Given the description of an element on the screen output the (x, y) to click on. 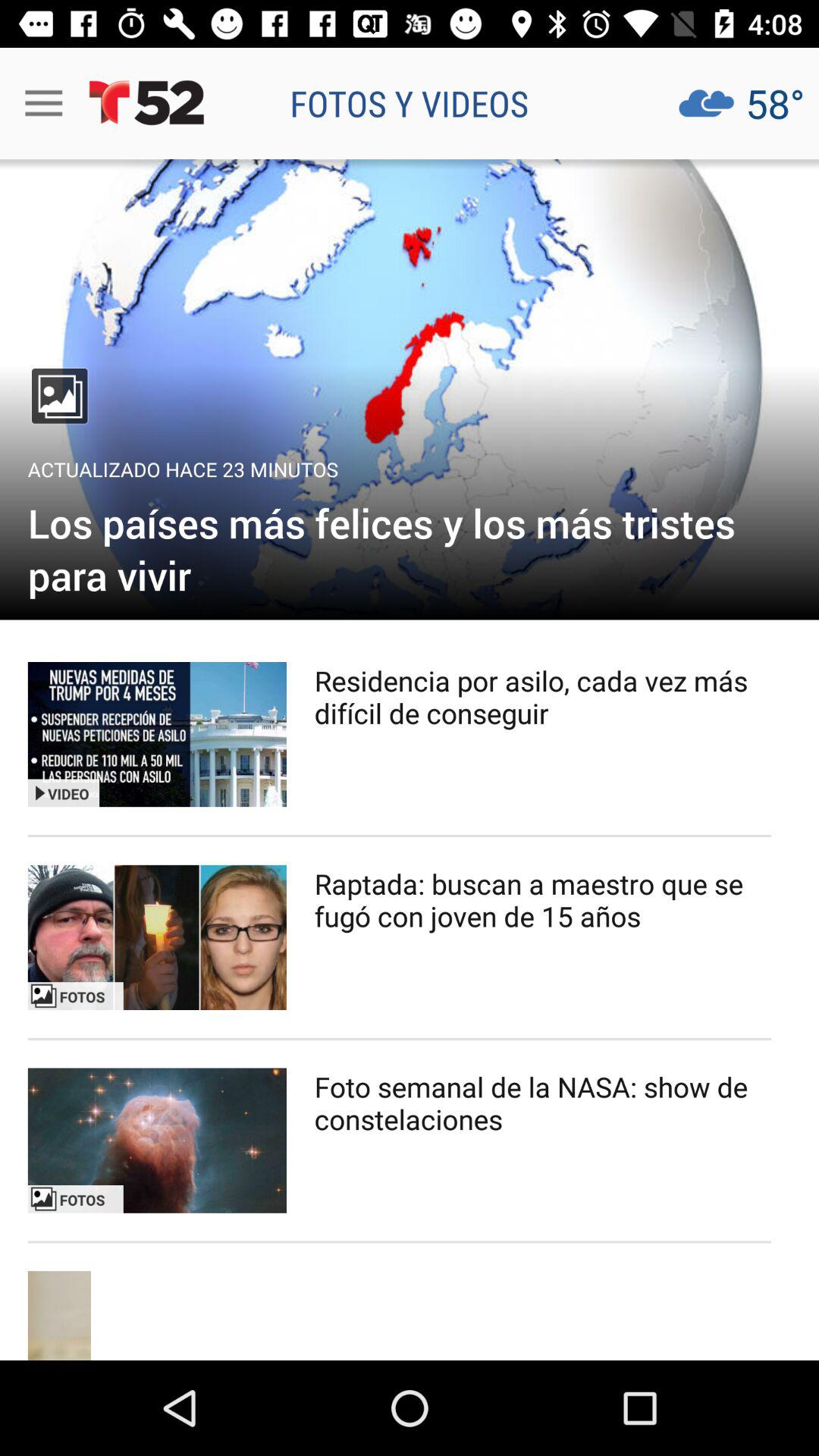
press fotos y videos (409, 103)
